Given the description of an element on the screen output the (x, y) to click on. 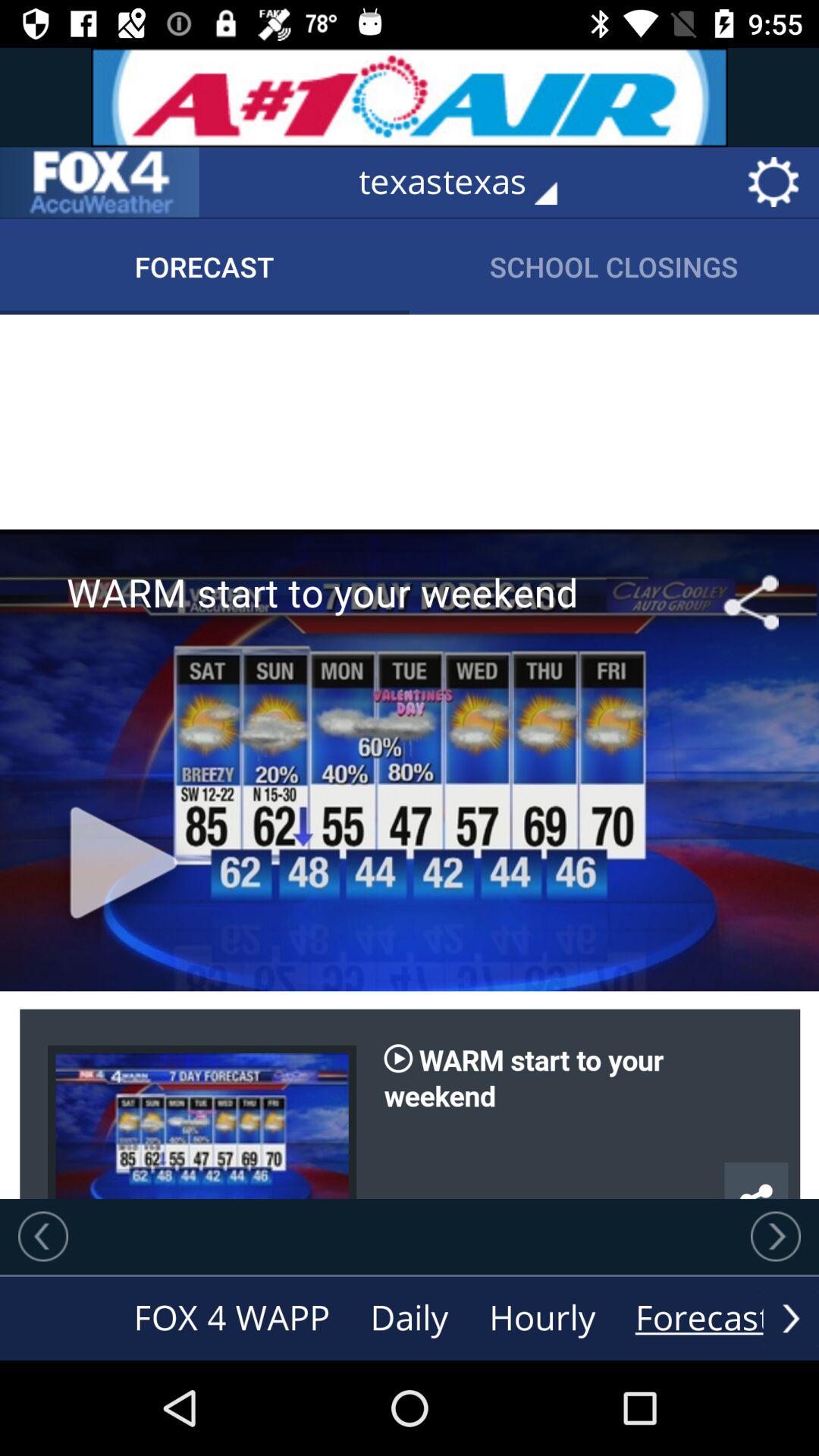
go back to home page (99, 182)
